Given the description of an element on the screen output the (x, y) to click on. 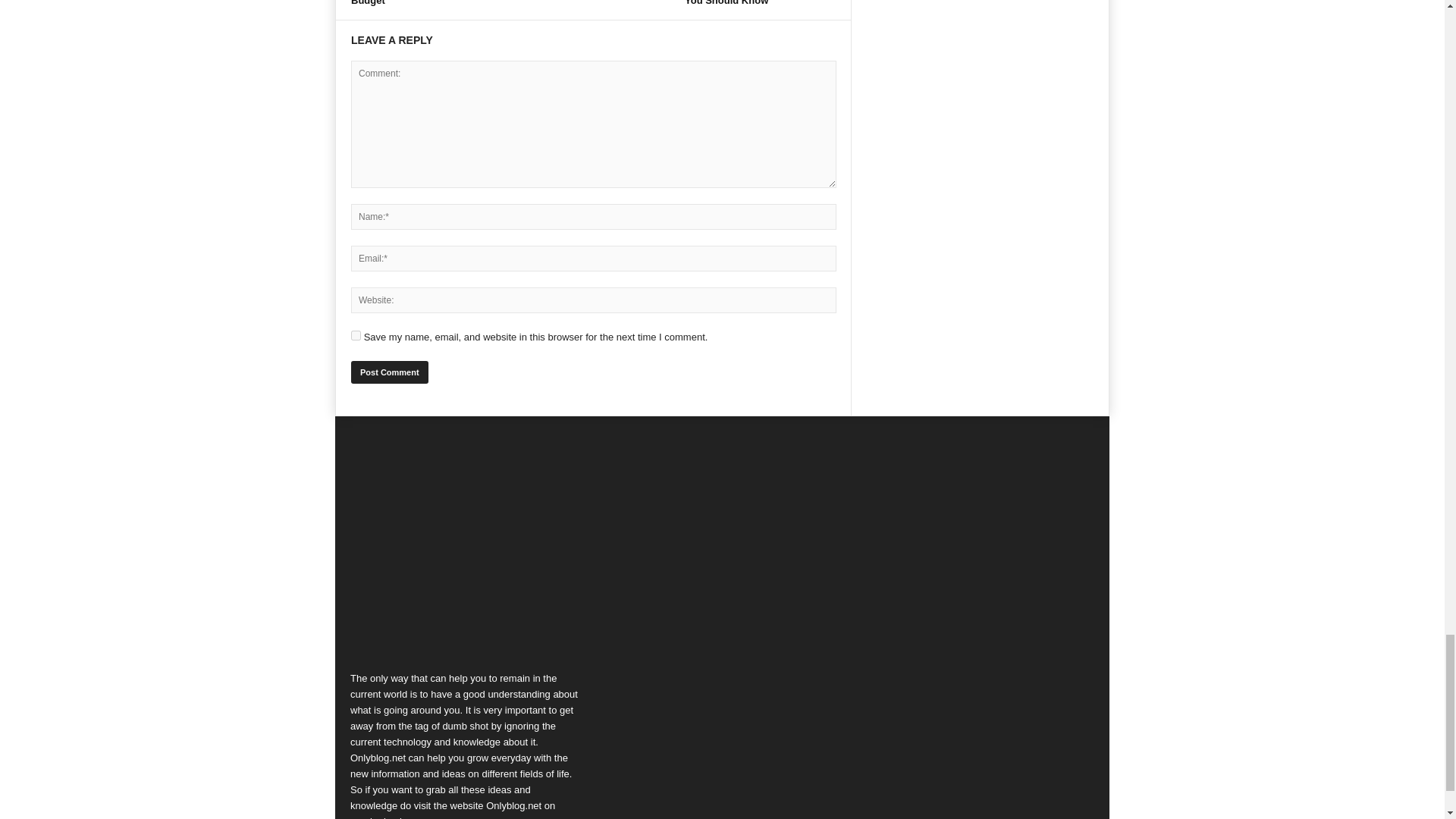
yes (355, 335)
6 Tips To Successfully Renovate Your House On A Budget (414, 2)
Post Comment (389, 372)
